Given the description of an element on the screen output the (x, y) to click on. 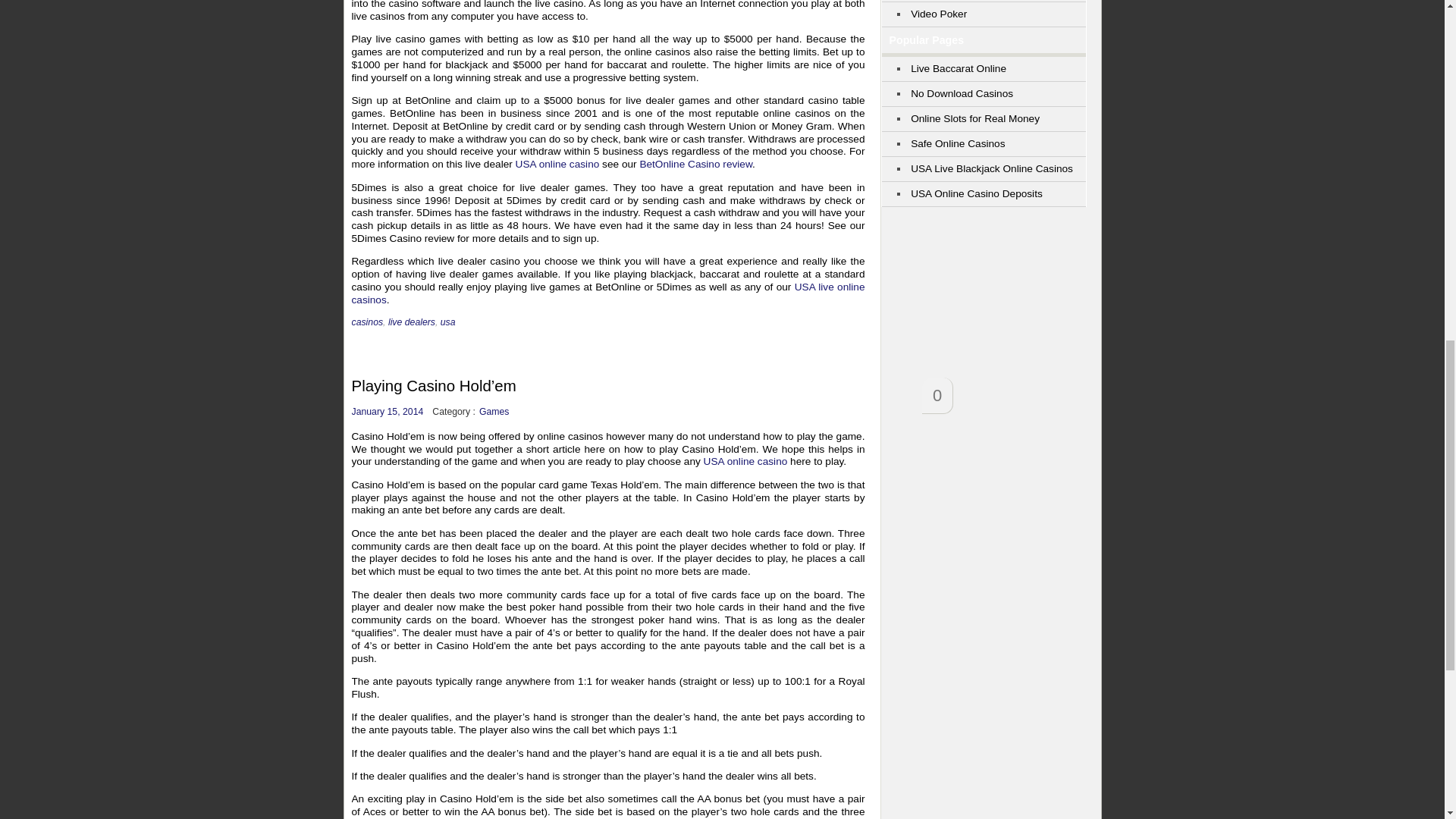
usa (448, 321)
live dealers (411, 321)
casinos (368, 321)
BetOnline Casino review (695, 163)
USA live online casinos (608, 293)
Games (494, 411)
USA online casino (557, 163)
USA online casino (745, 460)
January 15, 2014 (387, 411)
